Given the description of an element on the screen output the (x, y) to click on. 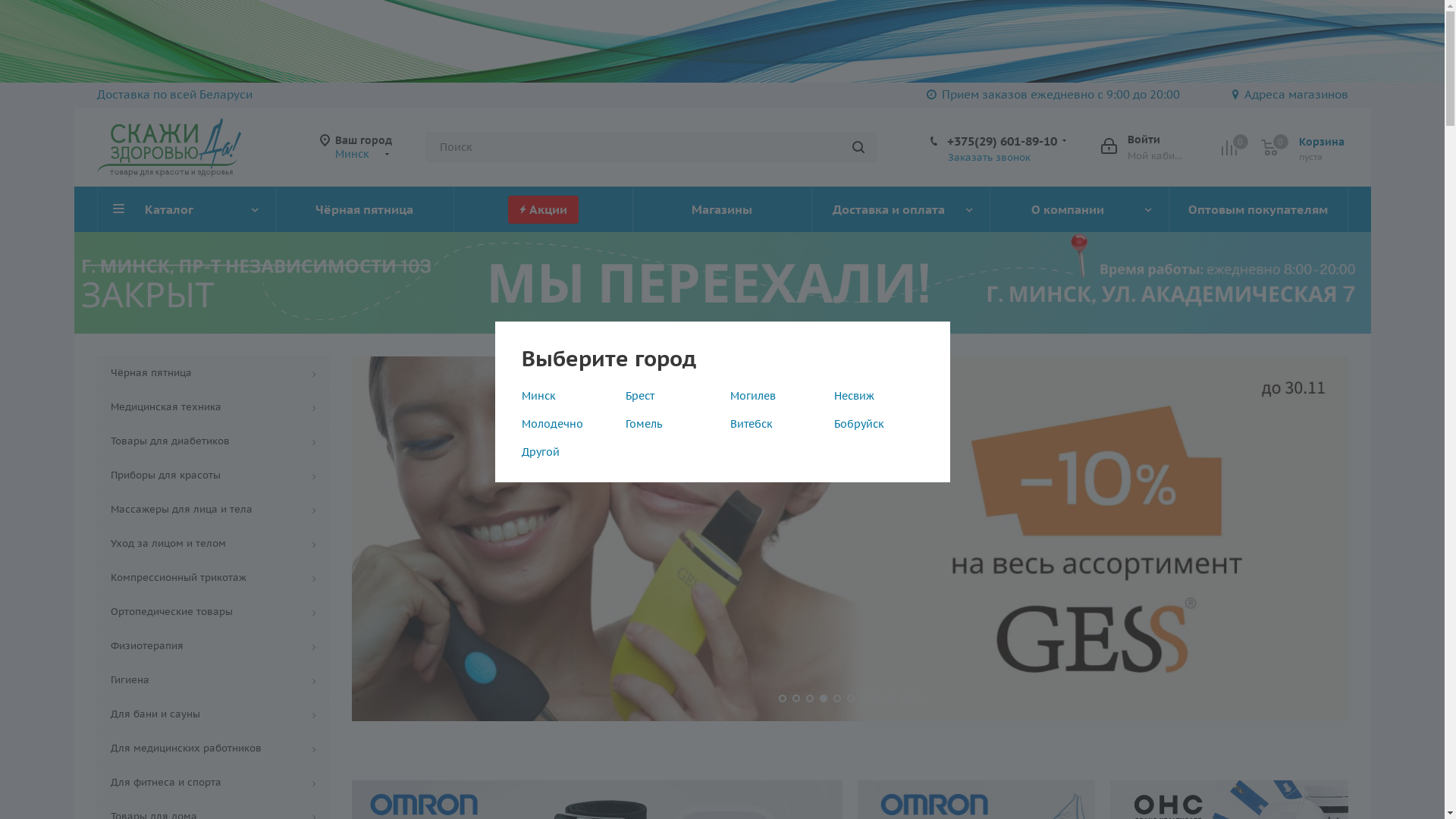
+375(29) 601-89-10 Element type: text (1001, 140)
